Given the description of an element on the screen output the (x, y) to click on. 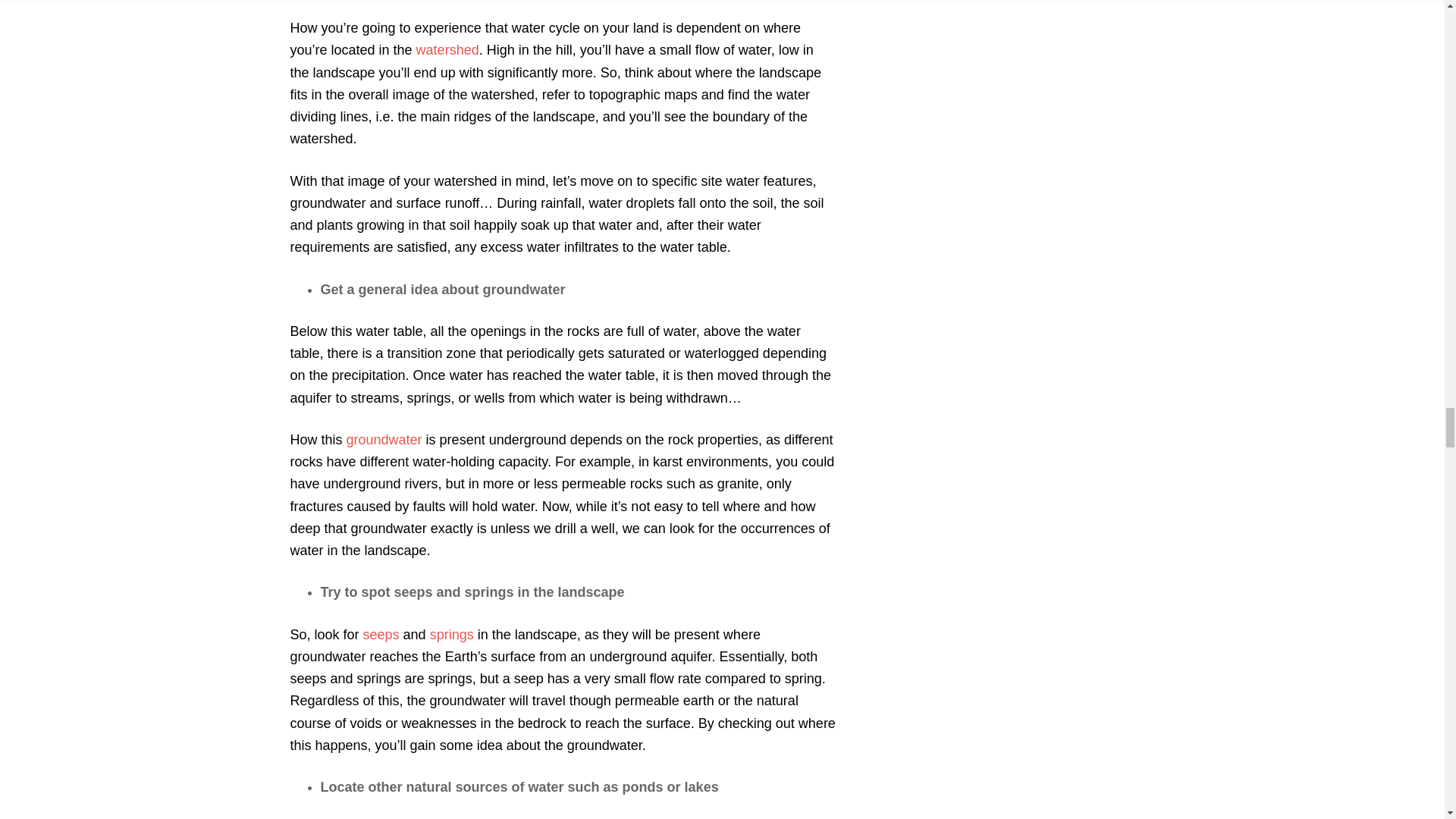
springs (451, 634)
seeps (380, 634)
watershed (447, 49)
groundwater (384, 439)
